Given the description of an element on the screen output the (x, y) to click on. 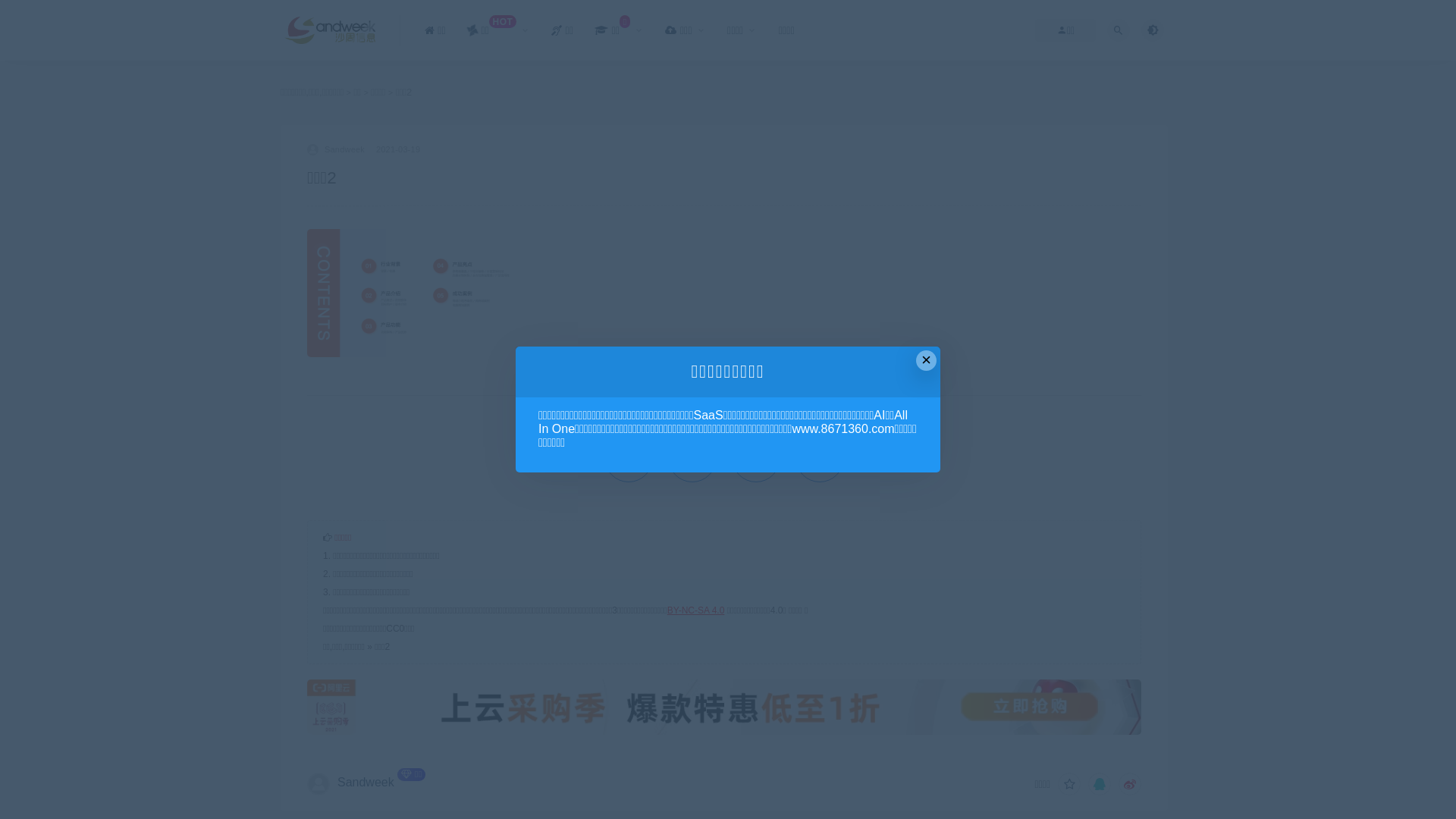
Sandweek Element type: text (335, 149)
BY-NC-SA 4.0 Element type: text (695, 610)
2021-03-19 Element type: text (398, 148)
Sandweek Element type: text (365, 781)
